Given the description of an element on the screen output the (x, y) to click on. 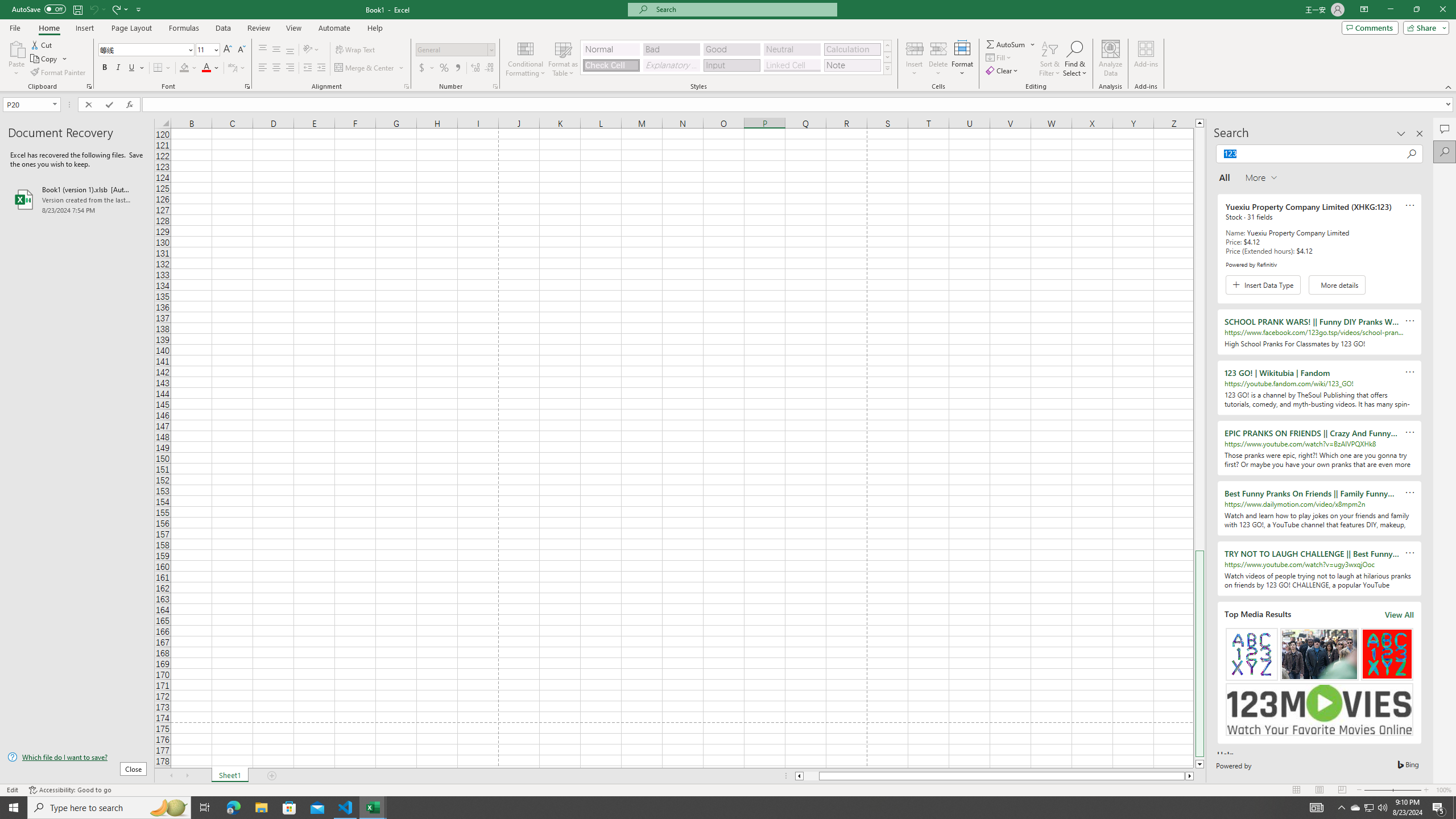
Fill (999, 56)
Underline (131, 67)
Note (852, 65)
Delete Cells... (938, 48)
Font (147, 49)
Increase Indent (320, 67)
Center (276, 67)
Cell Styles (887, 68)
Show Phonetic Field (236, 67)
